Given the description of an element on the screen output the (x, y) to click on. 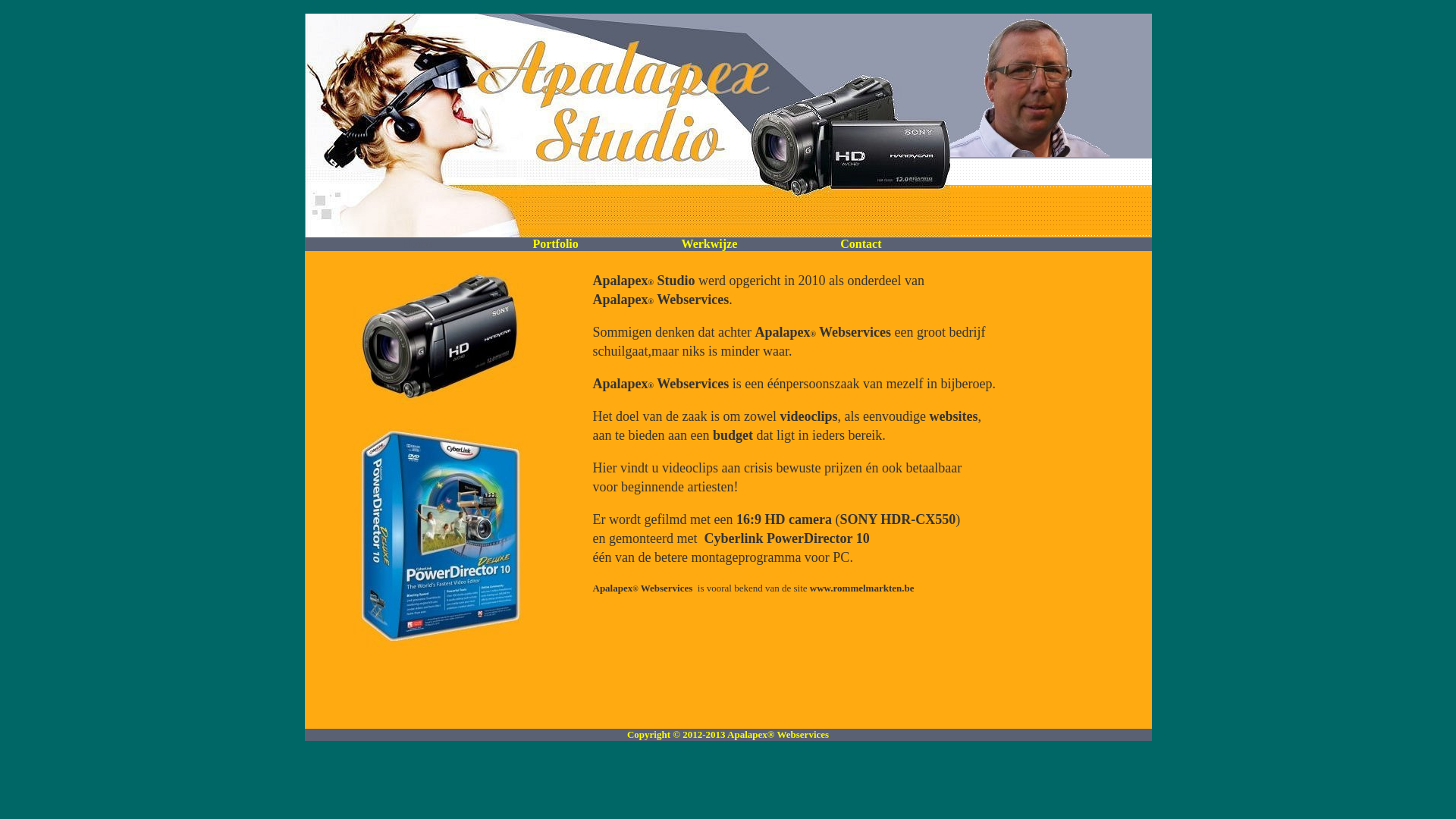
Portfolio Element type: text (554, 243)
Werkwijze Element type: text (709, 243)
www.rommelmarkten.be Element type: text (861, 587)
Contact Element type: text (860, 244)
